Given the description of an element on the screen output the (x, y) to click on. 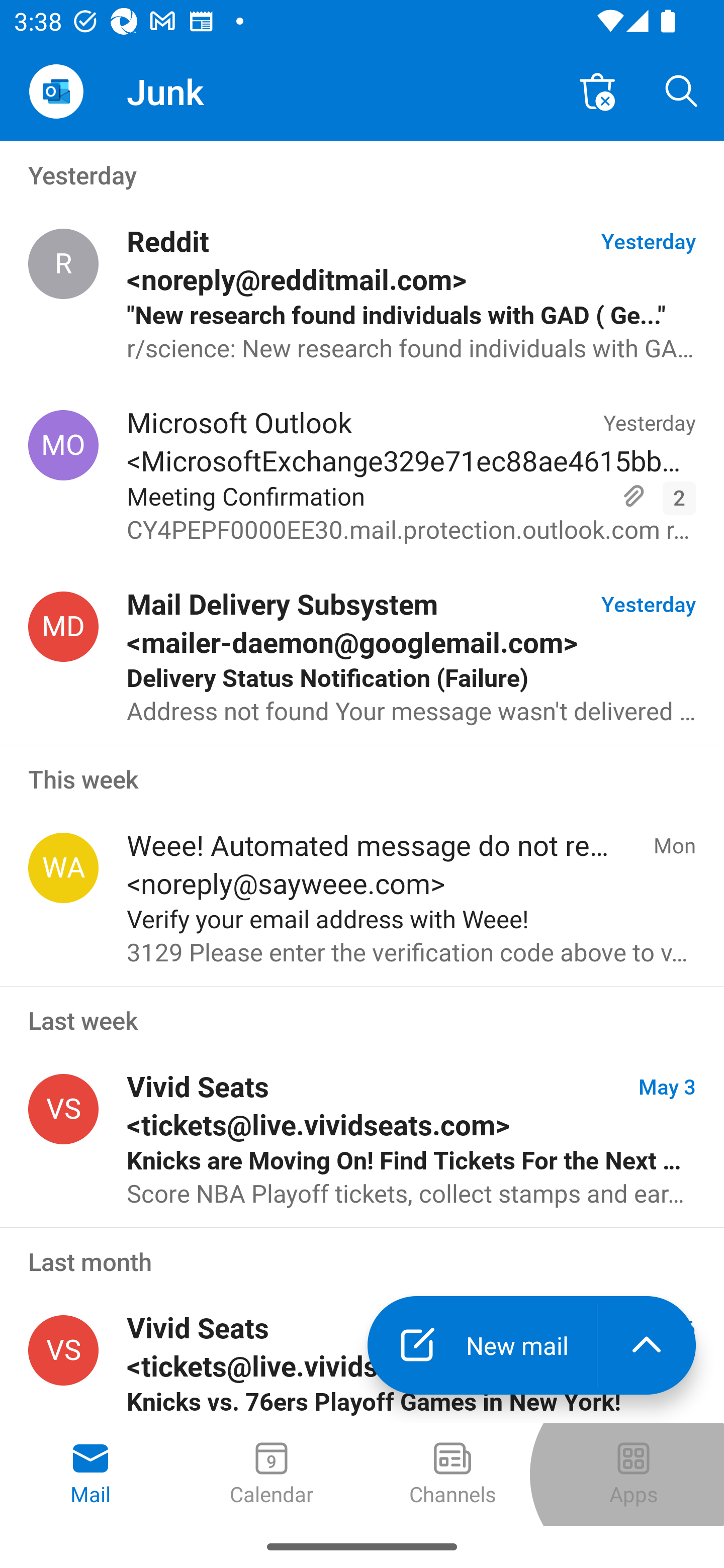
Empty Junk (597, 90)
Search, ,  (681, 90)
Open Navigation Drawer (55, 91)
Reddit, noreply@redditmail.com (63, 263)
Vivid Seats, tickets@live.vividseats.com (63, 1109)
New mail (481, 1344)
launch the extended action menu (646, 1344)
Vivid Seats, tickets@live.vividseats.com (63, 1350)
Calendar (271, 1474)
Channels (452, 1474)
Apps (633, 1474)
